Given the description of an element on the screen output the (x, y) to click on. 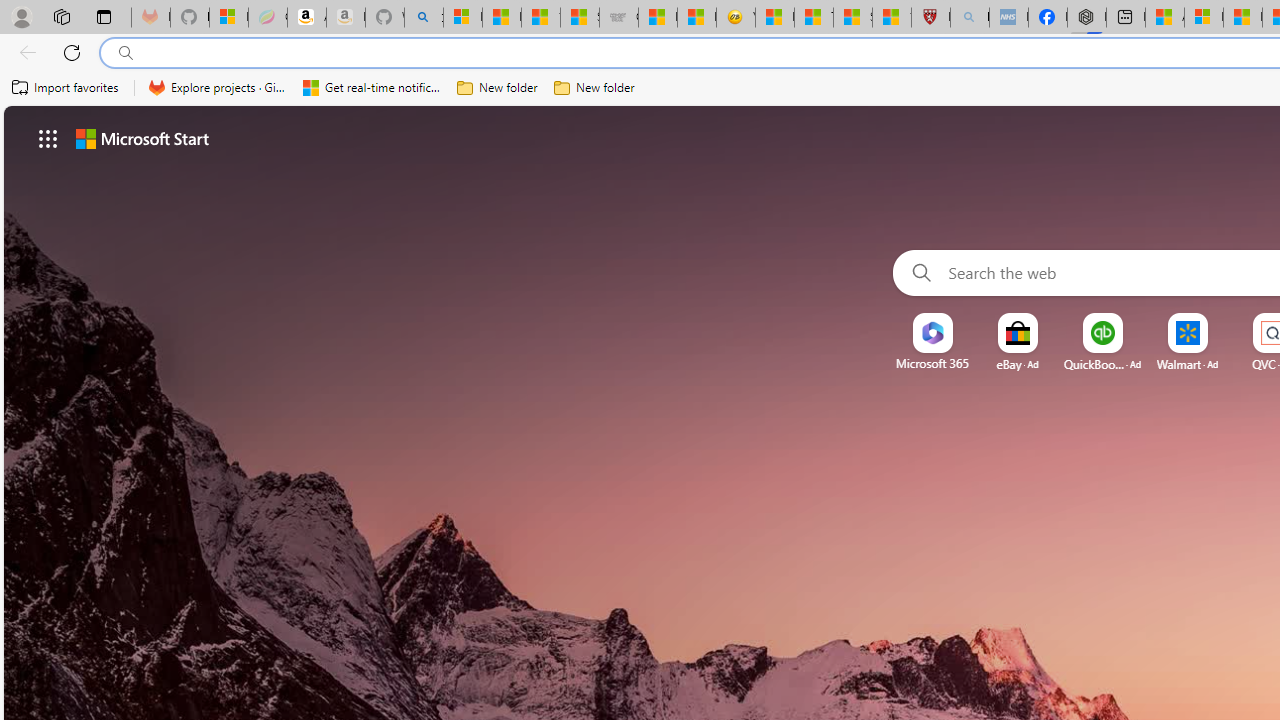
Science - MSN (852, 17)
New folder (594, 88)
Robert H. Shmerling, MD - Harvard Health (930, 17)
